Given the description of an element on the screen output the (x, y) to click on. 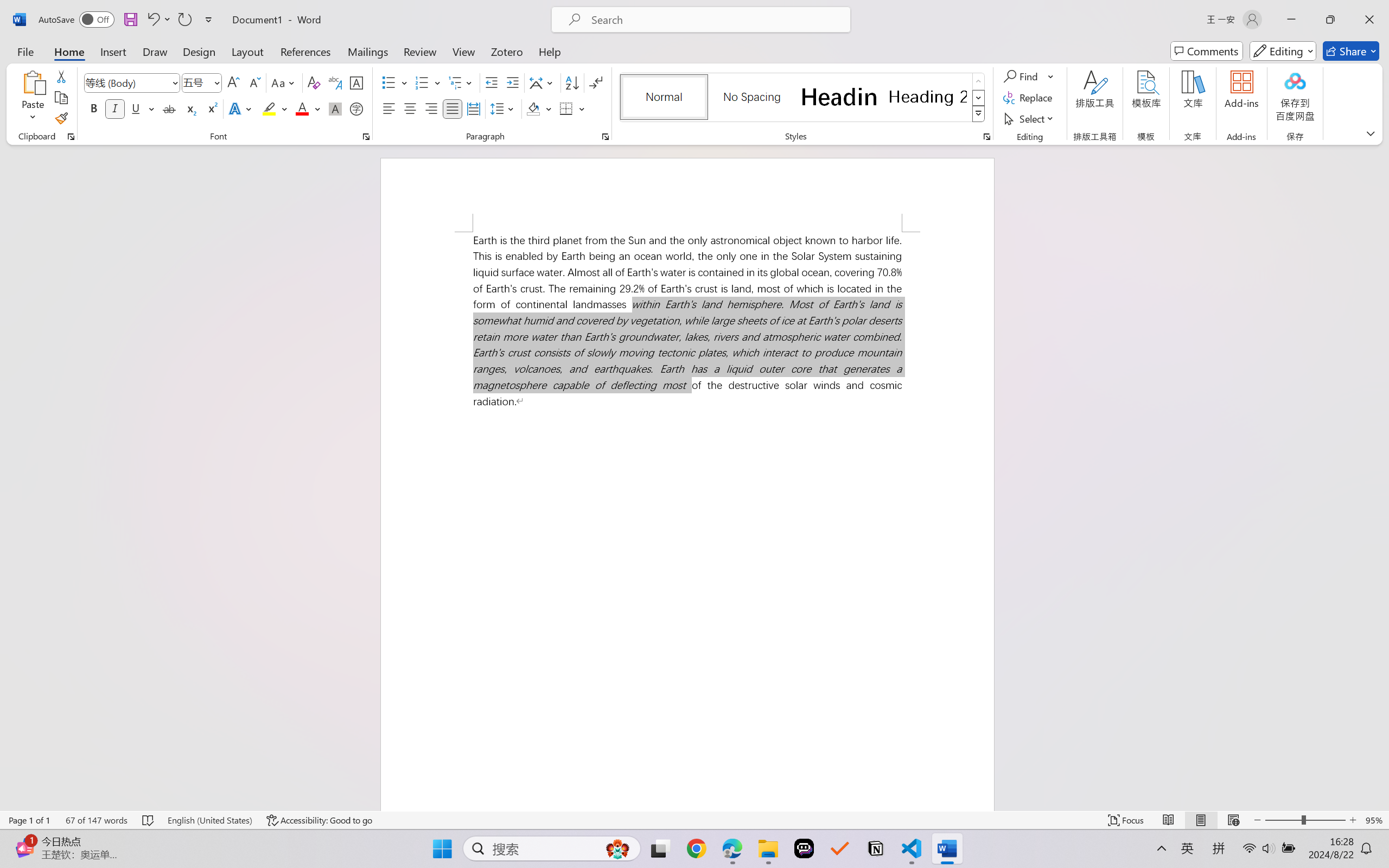
Export to Video (317, 62)
Learn More (351, 62)
Save (73, 9)
Collapse the Ribbon (1382, 92)
Present in Teams (1296, 29)
Slide Notes (664, 800)
Zoom In (1362, 817)
File Tab (14, 29)
Animations (210, 29)
Design (116, 29)
Insert (80, 29)
Line up (1131, 119)
